Given the description of an element on the screen output the (x, y) to click on. 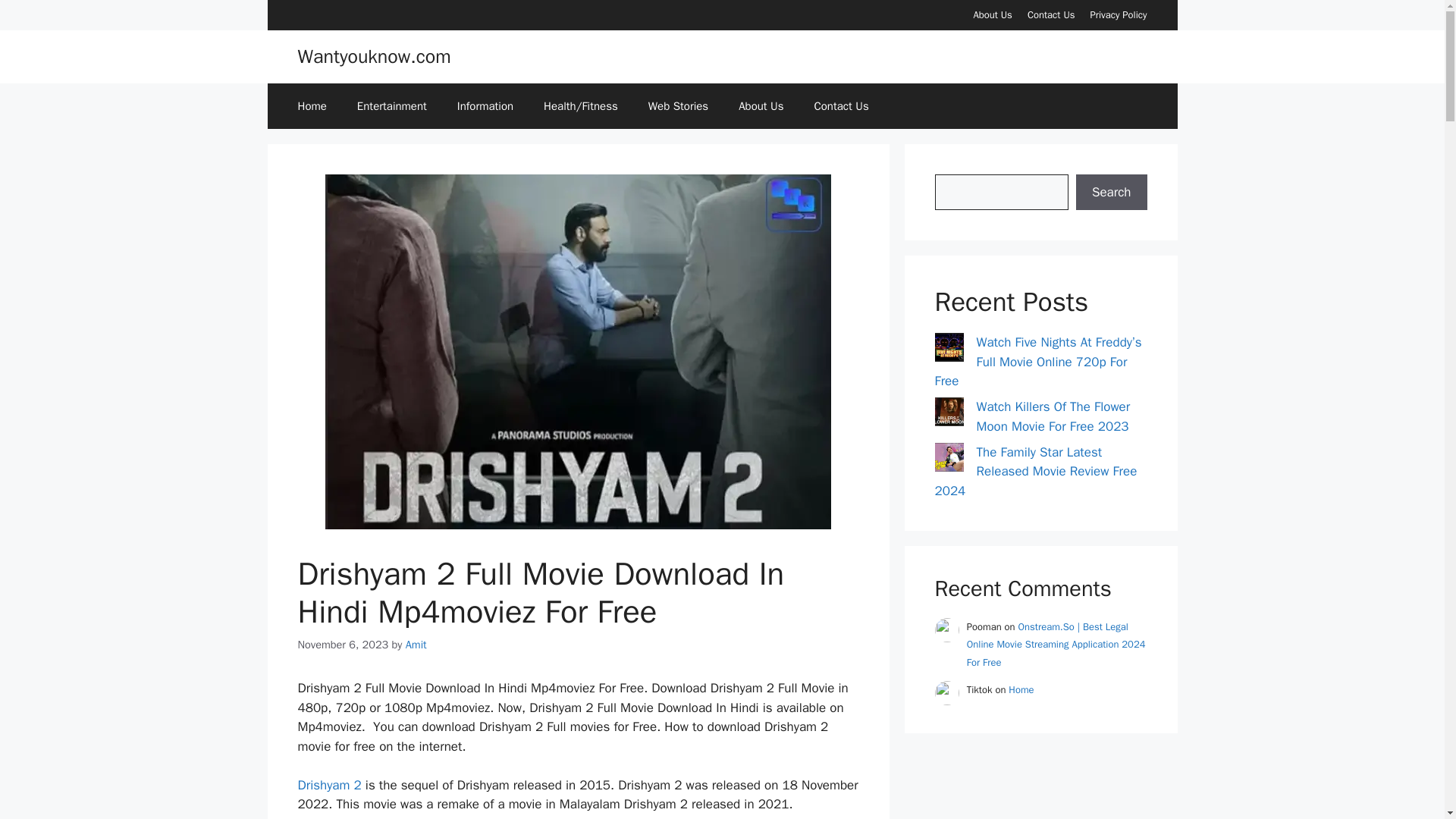
Drishyam 2 (329, 785)
Entertainment (392, 105)
Privacy Policy (1118, 14)
Contact Us (840, 105)
The Family Star Latest Released Movie Review Free 2024 (1035, 471)
Watch Killers Of The Flower Moon Movie For Free 2023 (1053, 416)
Web Stories (678, 105)
Home (311, 105)
Information (485, 105)
Contact Us (1051, 14)
About Us (760, 105)
Amit (416, 643)
View all posts by Amit (416, 643)
About Us (991, 14)
Home (1021, 689)
